Given the description of an element on the screen output the (x, y) to click on. 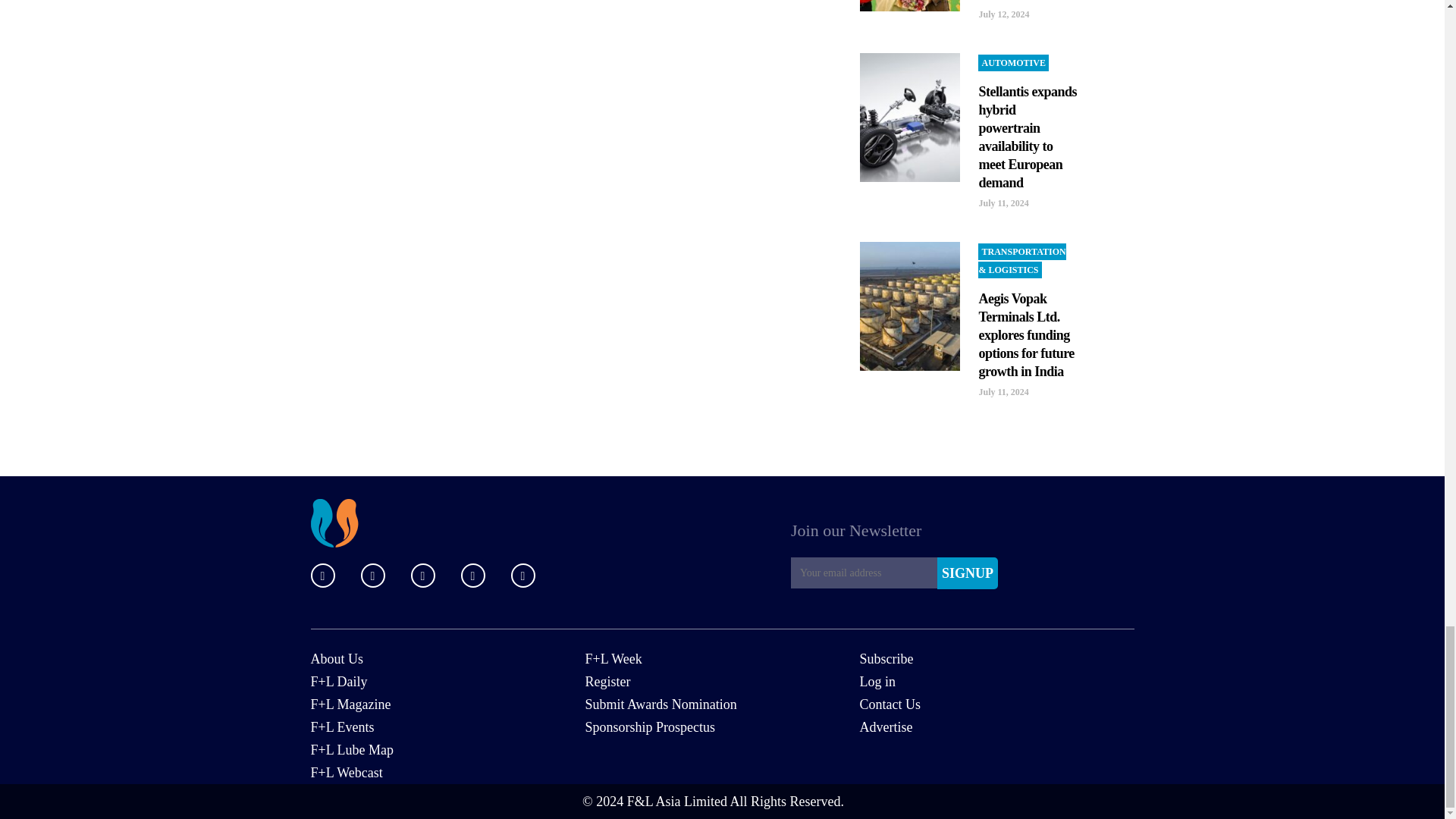
SIGNUP (967, 572)
